Given the description of an element on the screen output the (x, y) to click on. 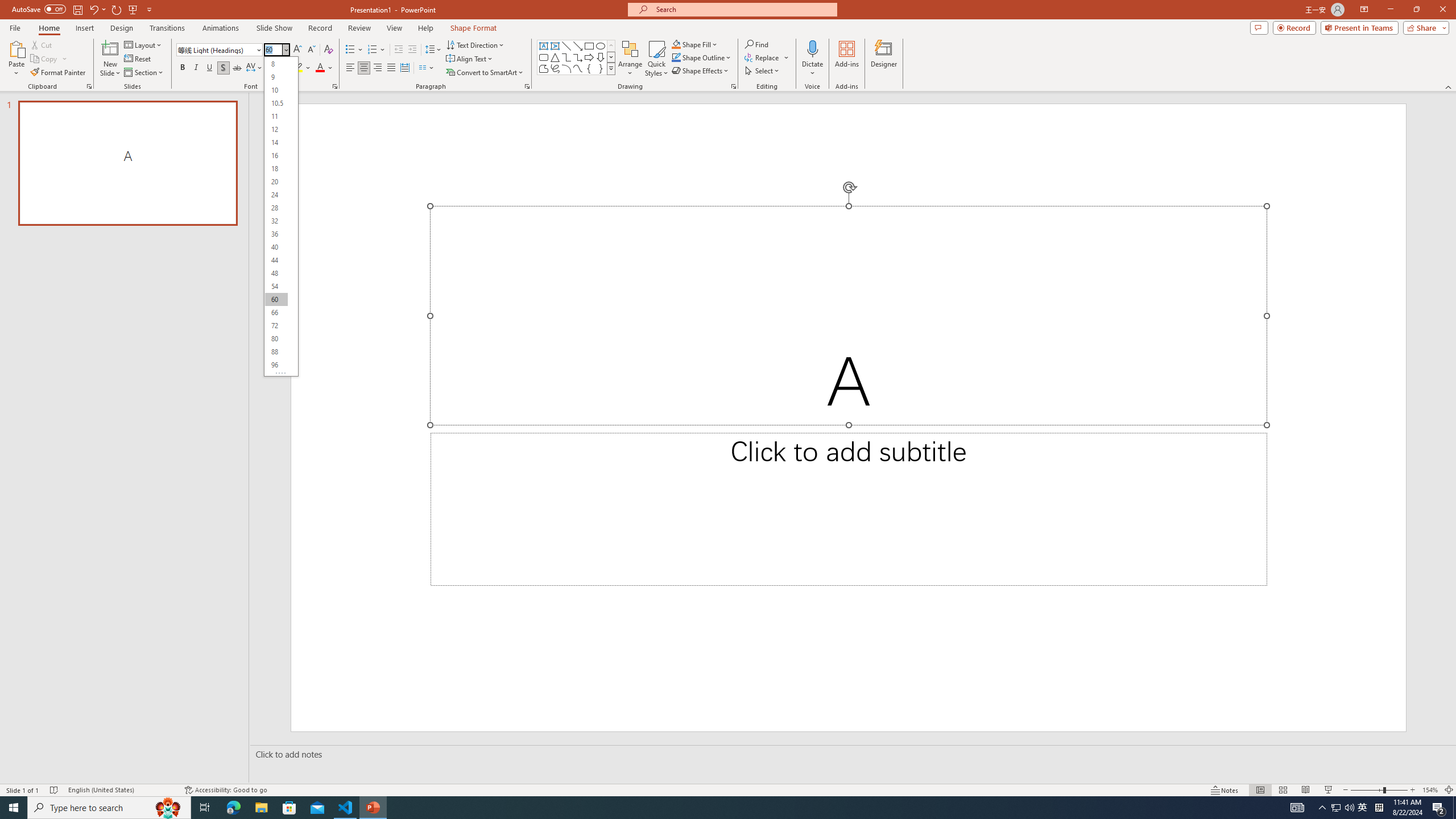
44 (276, 259)
96 (276, 364)
